Given the description of an element on the screen output the (x, y) to click on. 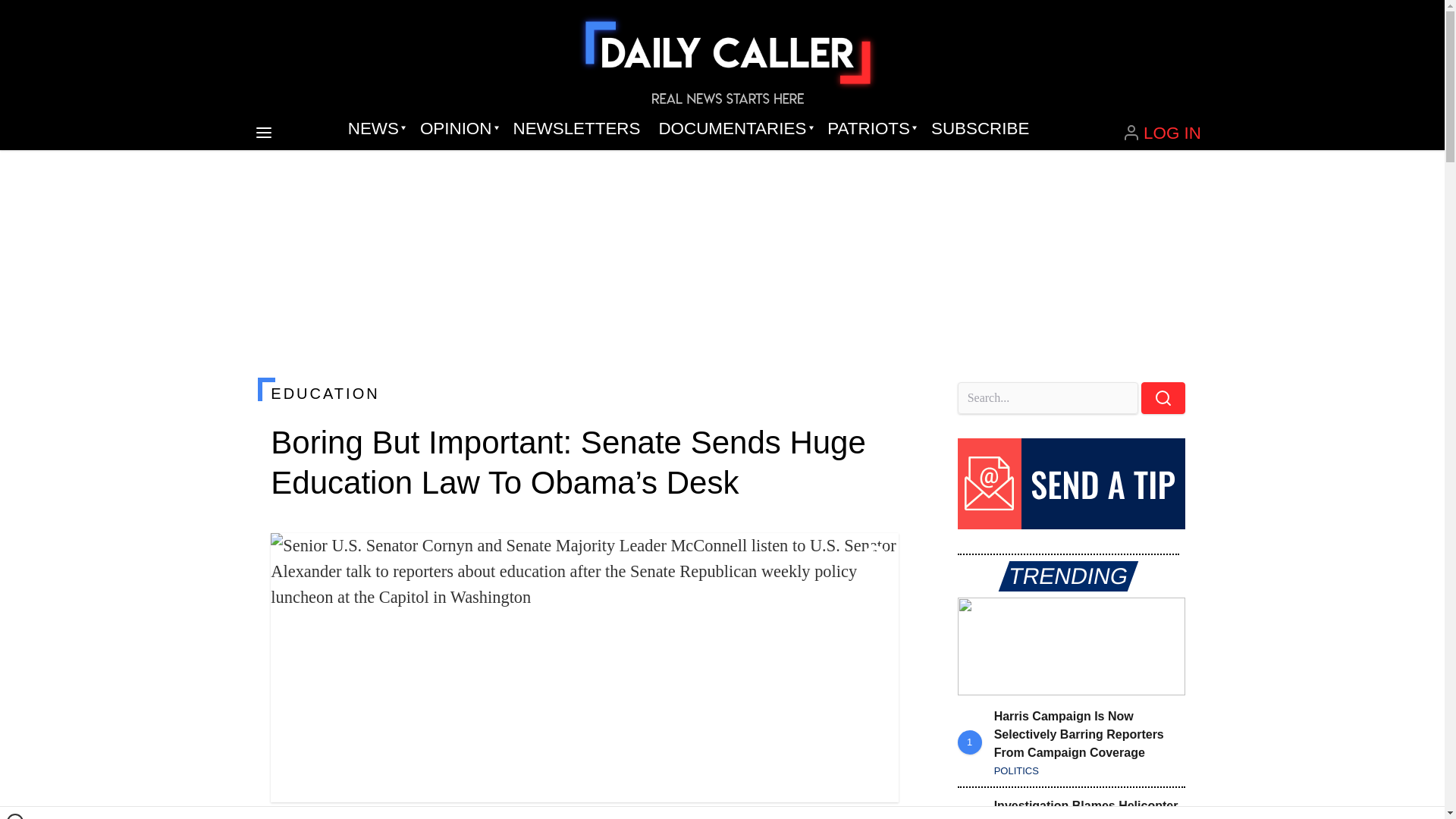
Close window (14, 816)
NEWS (374, 128)
NEWSLETTERS (576, 128)
Toggle fullscreen (874, 556)
DOCUMENTARIES (733, 128)
SUBSCRIBE (979, 128)
EDUCATION (584, 393)
OPINION (456, 128)
